Given the description of an element on the screen output the (x, y) to click on. 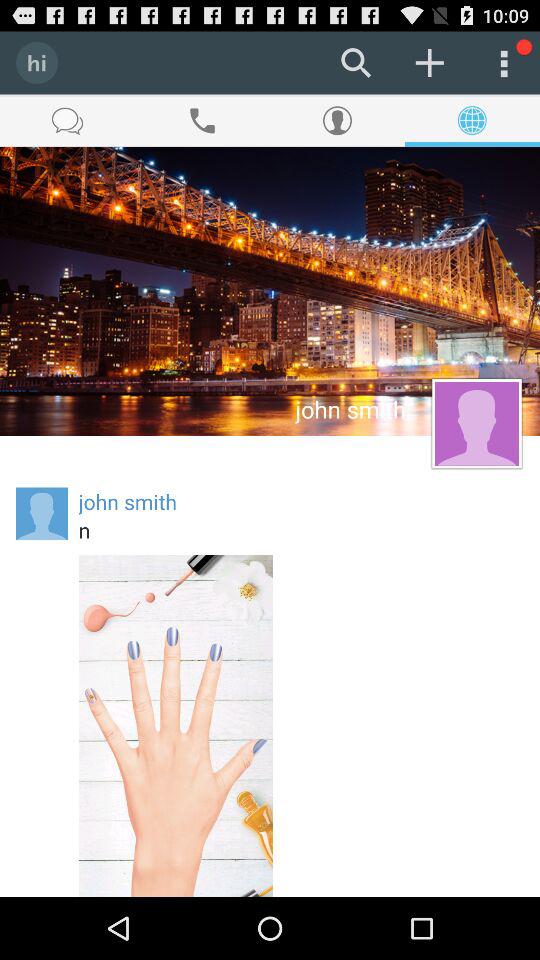
flip to the n (301, 530)
